Given the description of an element on the screen output the (x, y) to click on. 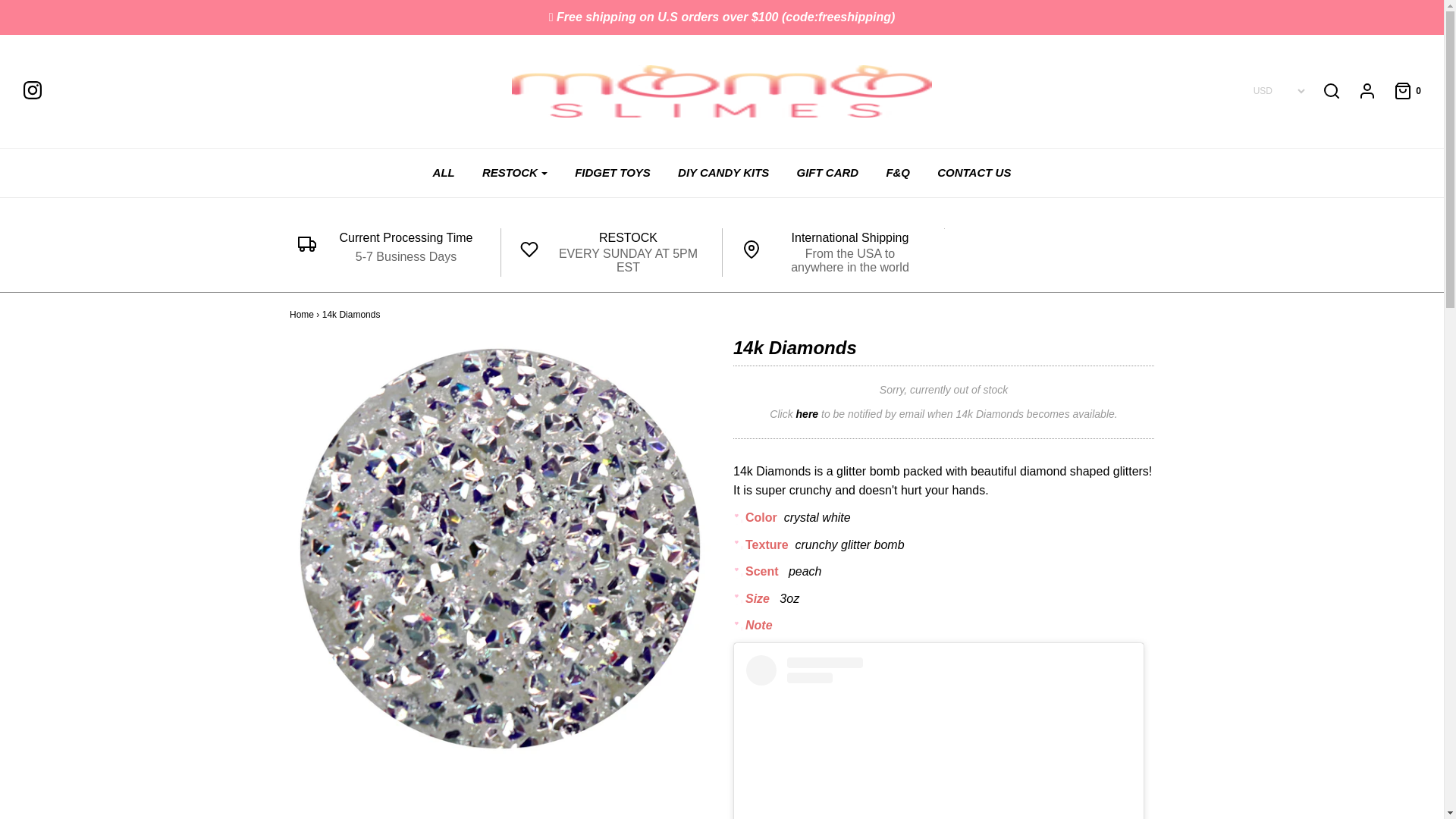
Cart (1399, 90)
Search (1101, 4)
Instagram icon (32, 90)
Instagram icon (39, 90)
ALL (443, 172)
Log in (1358, 90)
Back to the frontpage (301, 314)
Search (1331, 90)
0 (1399, 90)
